Given the description of an element on the screen output the (x, y) to click on. 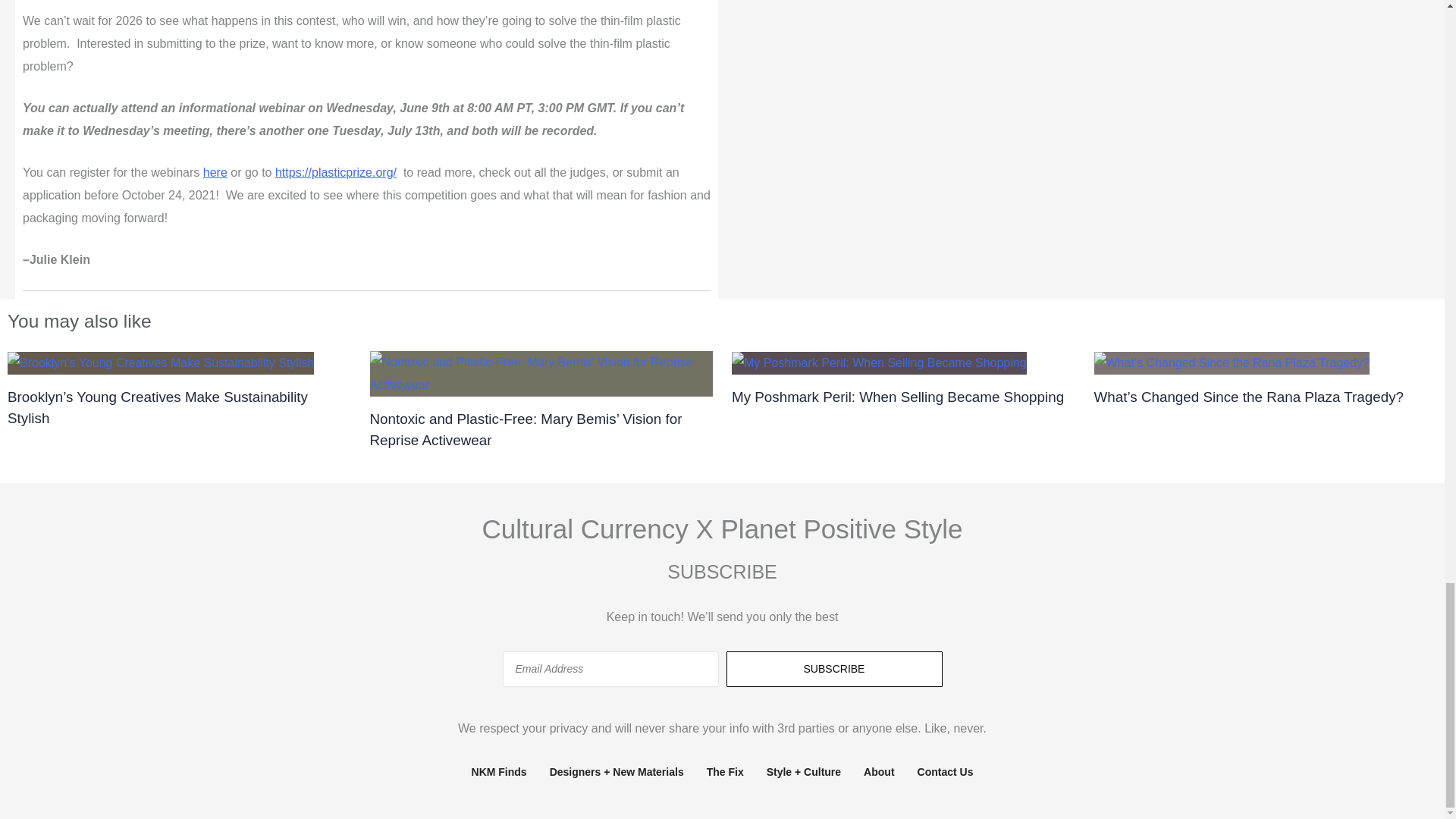
SUBSCRIBE (834, 669)
here (215, 172)
My Poshmark Peril: When Selling Became Shopping (898, 396)
NKM Finds (499, 771)
